Given the description of an element on the screen output the (x, y) to click on. 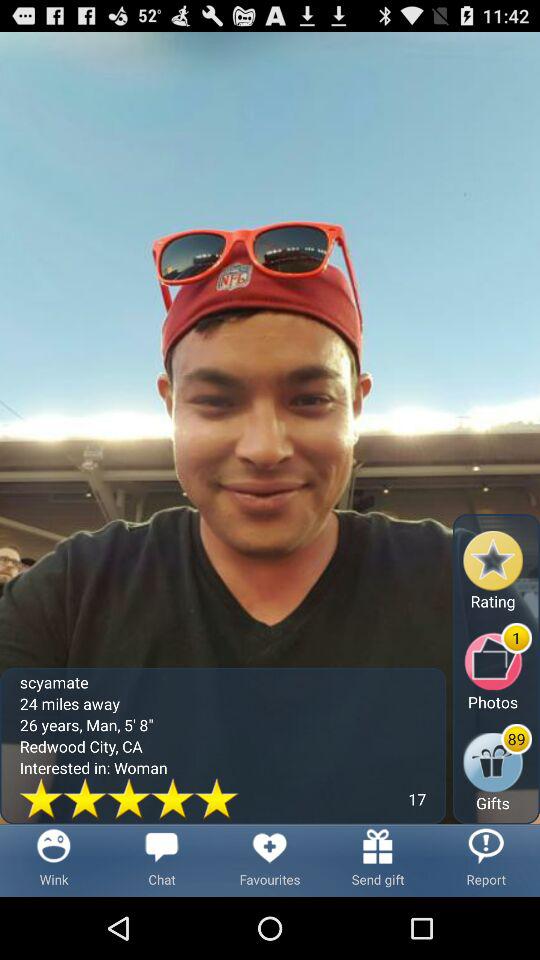
jump until the photos item (498, 666)
